Given the description of an element on the screen output the (x, y) to click on. 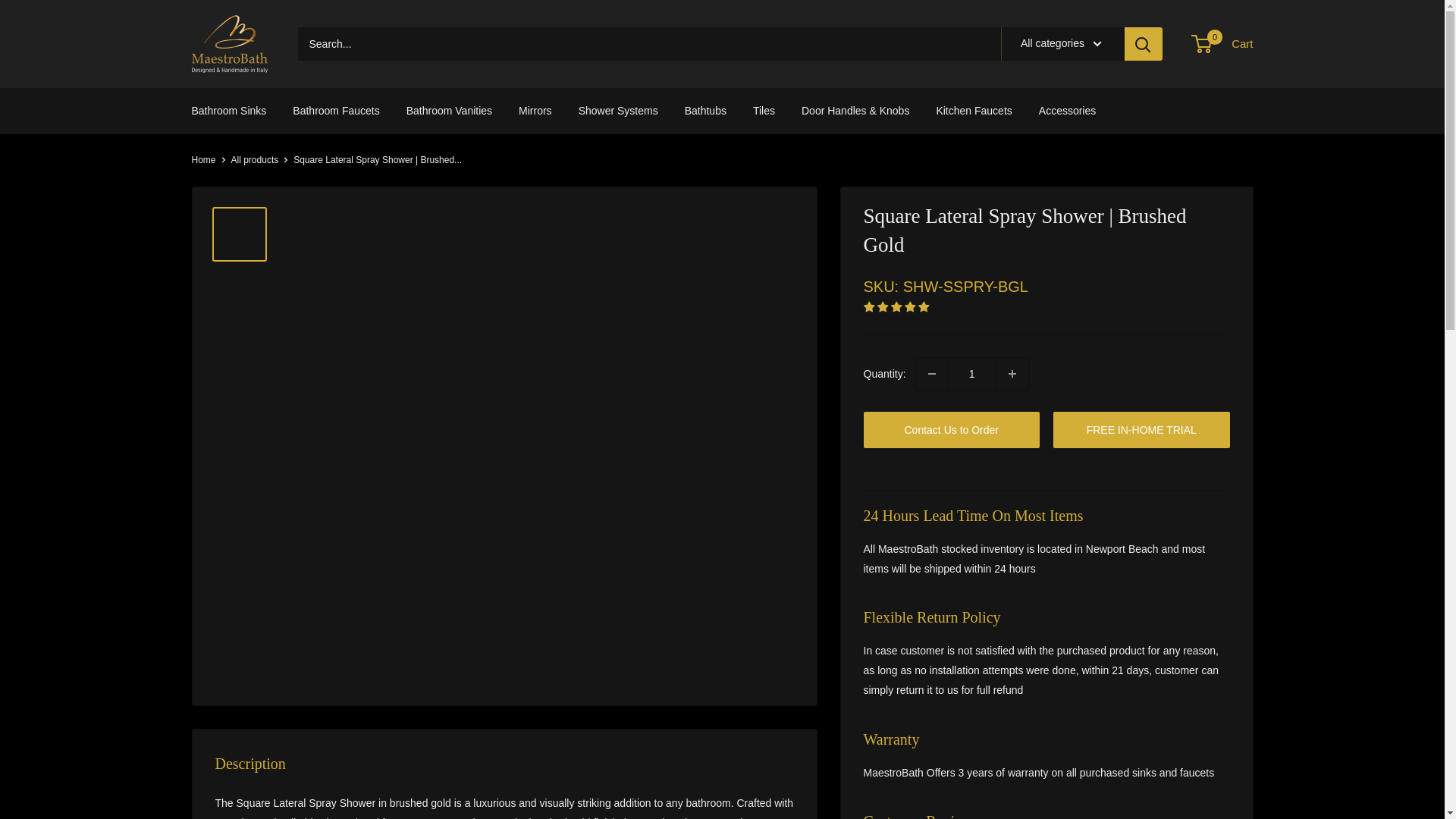
Increase quantity by 1 (1011, 373)
Decrease quantity by 1 (931, 373)
1 (971, 373)
